Given the description of an element on the screen output the (x, y) to click on. 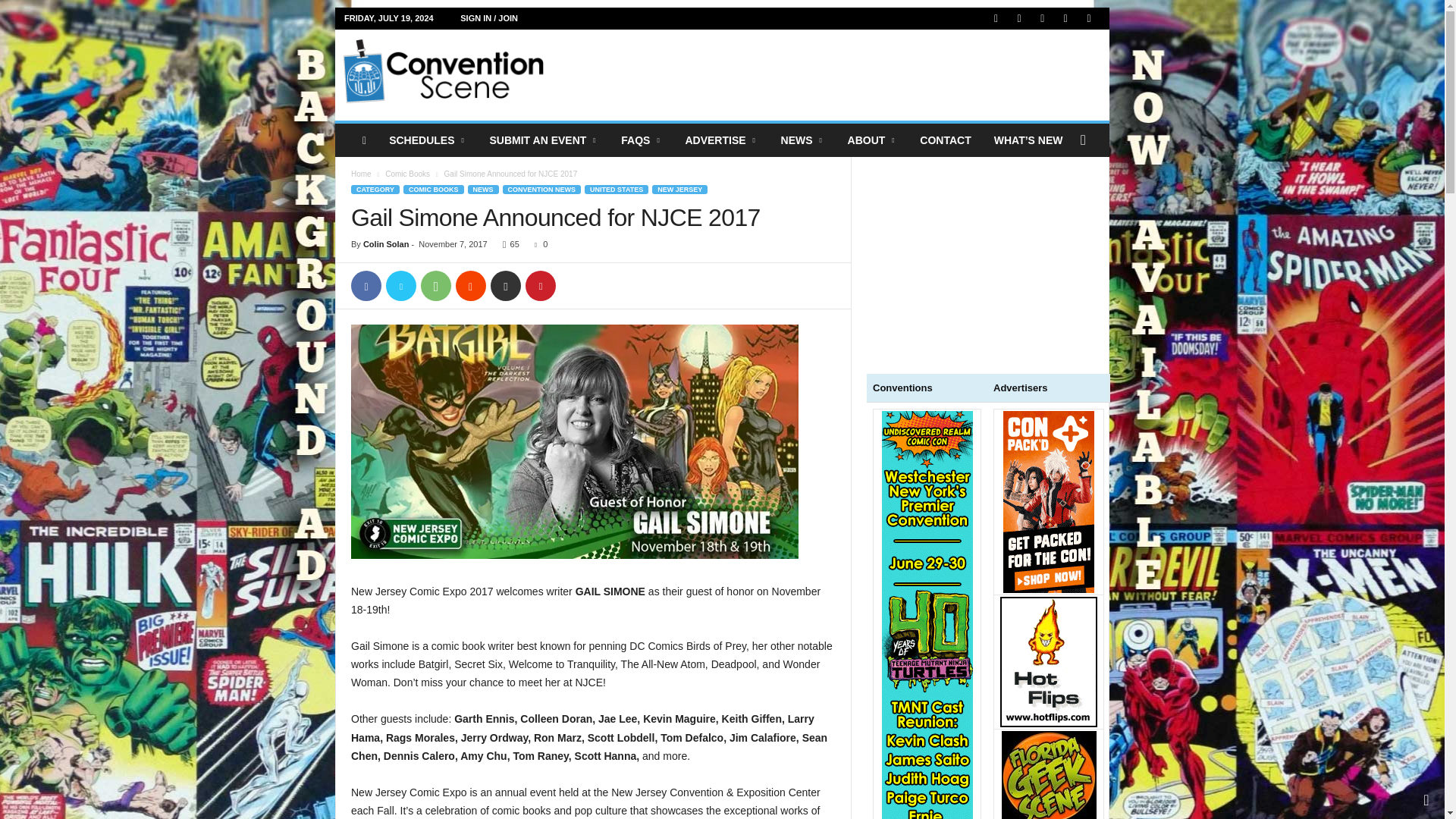
Convention Scene logo (442, 70)
Facebook (365, 286)
View all posts in Comic Books (407, 173)
